Given the description of an element on the screen output the (x, y) to click on. 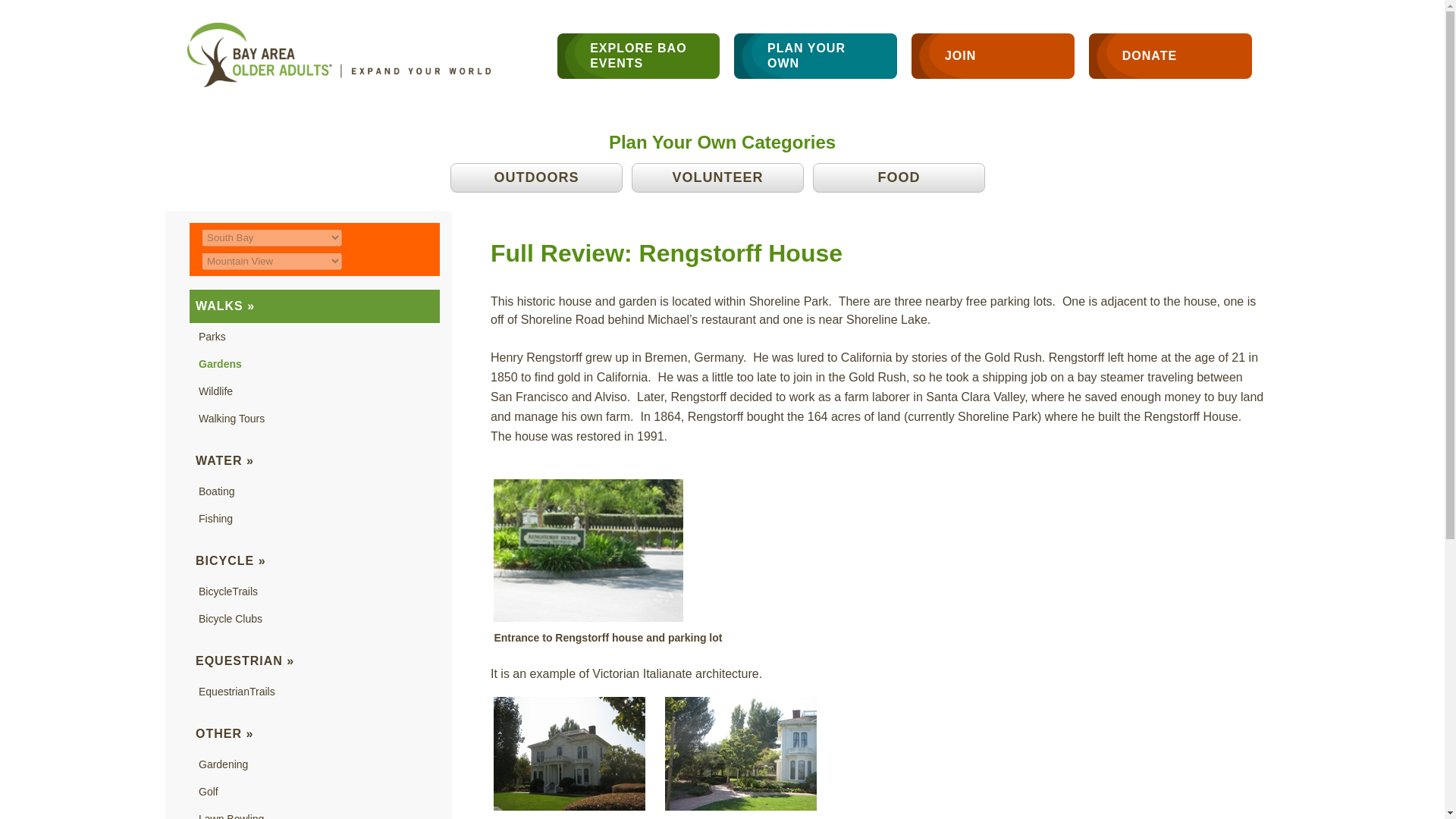
Golf (208, 791)
PLAN YOUR OWN (814, 55)
Lawn Bowling (230, 816)
Rengstorff2.JPG (569, 753)
BicycleTrails (227, 591)
Wildlife (215, 390)
VOLUNTEER (717, 177)
Parks (211, 336)
EXPLORE BAO EVENTS (638, 55)
Fishing (215, 518)
